Given the description of an element on the screen output the (x, y) to click on. 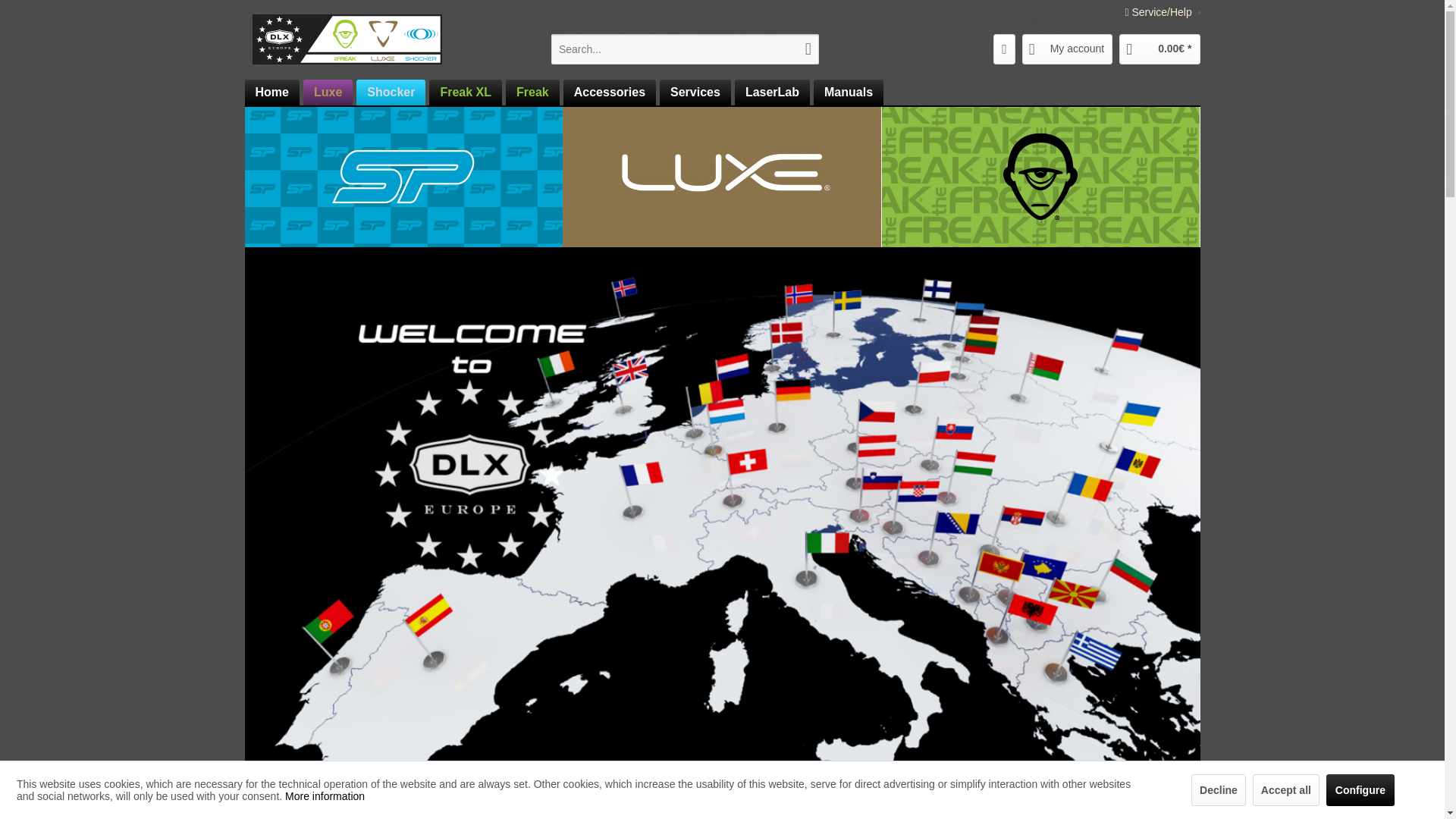
Freak (532, 92)
Shopping cart (1159, 49)
Luxe (327, 92)
LaserLab (769, 92)
Accessories (609, 92)
Shocker (388, 92)
Services (694, 92)
Freak XL (465, 92)
Shocker (390, 92)
Luxe (325, 92)
Home (271, 92)
My account (1067, 49)
Home (271, 92)
